Given the description of an element on the screen output the (x, y) to click on. 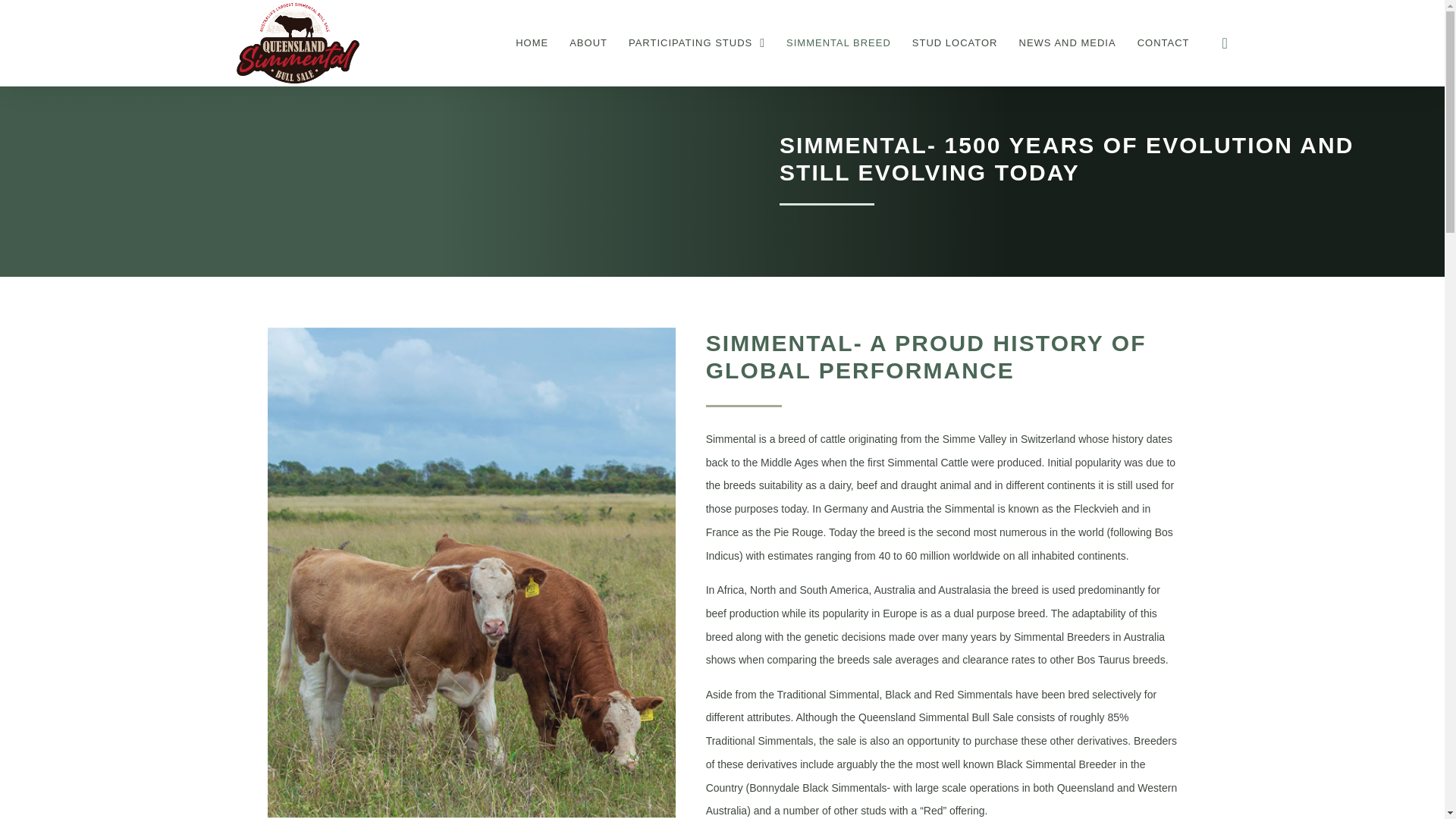
SIMMENTAL BREED (838, 42)
PARTICIPATING STUDS (696, 42)
CONTACT (1162, 42)
HOME (532, 42)
ABOUT (588, 42)
NEWS AND MEDIA (1067, 42)
STUD LOCATOR (955, 42)
